Given the description of an element on the screen output the (x, y) to click on. 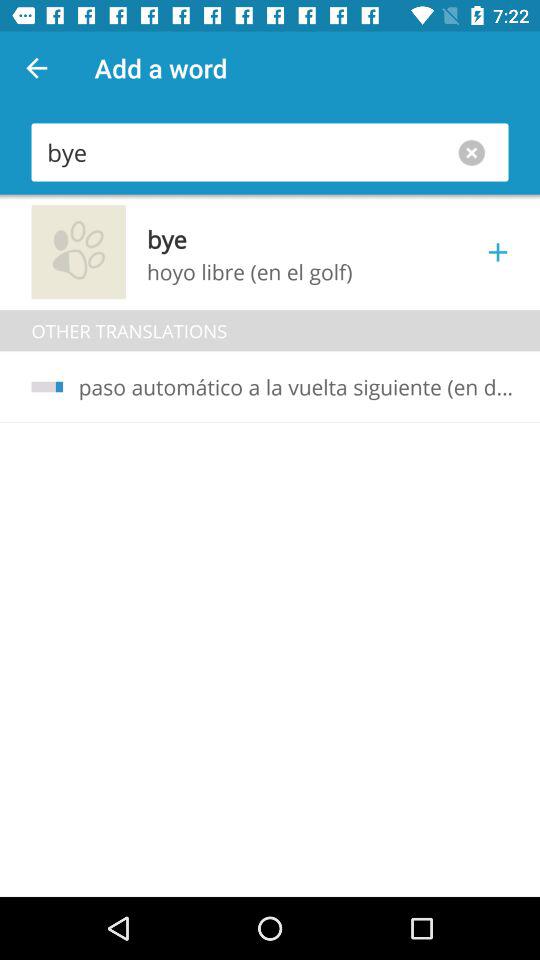
close (476, 152)
